Given the description of an element on the screen output the (x, y) to click on. 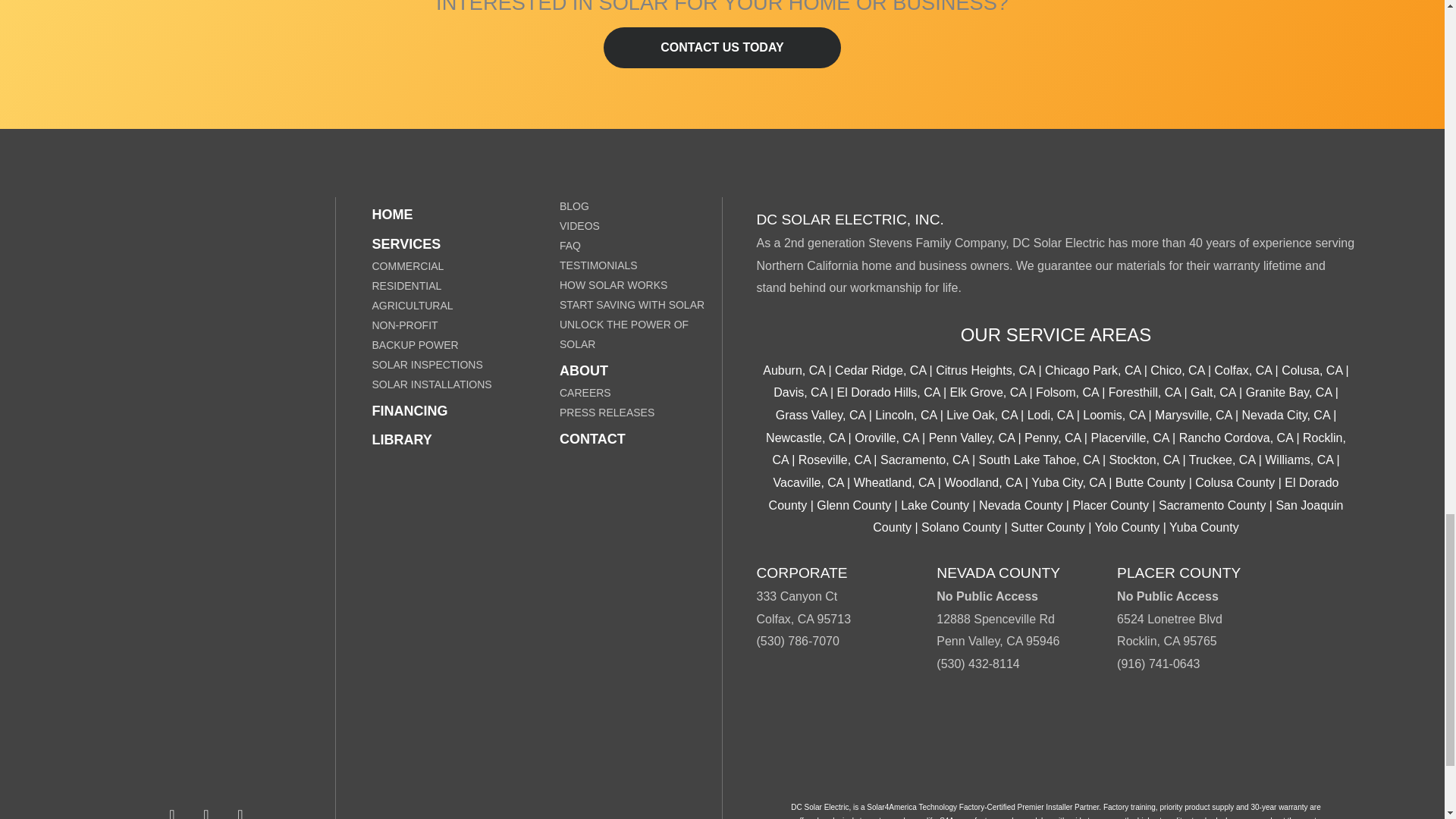
S4A Premier Installer Badge (1055, 743)
